Given the description of an element on the screen output the (x, y) to click on. 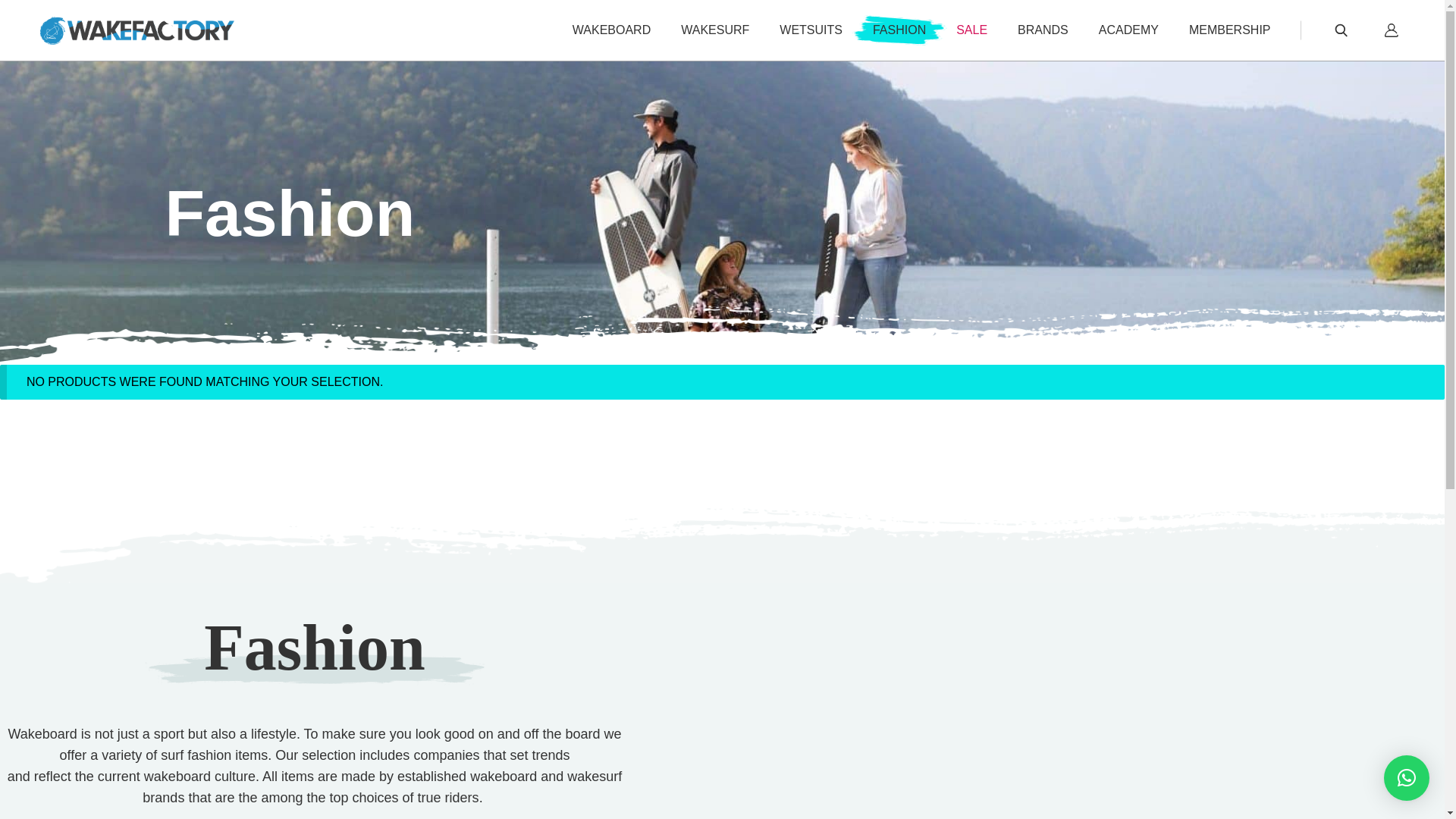
ACADEMY (1128, 30)
SALE (971, 30)
WAKEBOARD (611, 30)
MEMBERSHIP (1230, 30)
WETSUITS (810, 30)
BRANDS (1042, 30)
Profile (1391, 30)
Search (1340, 30)
WakeFactory (135, 30)
FASHION (899, 30)
